Given the description of an element on the screen output the (x, y) to click on. 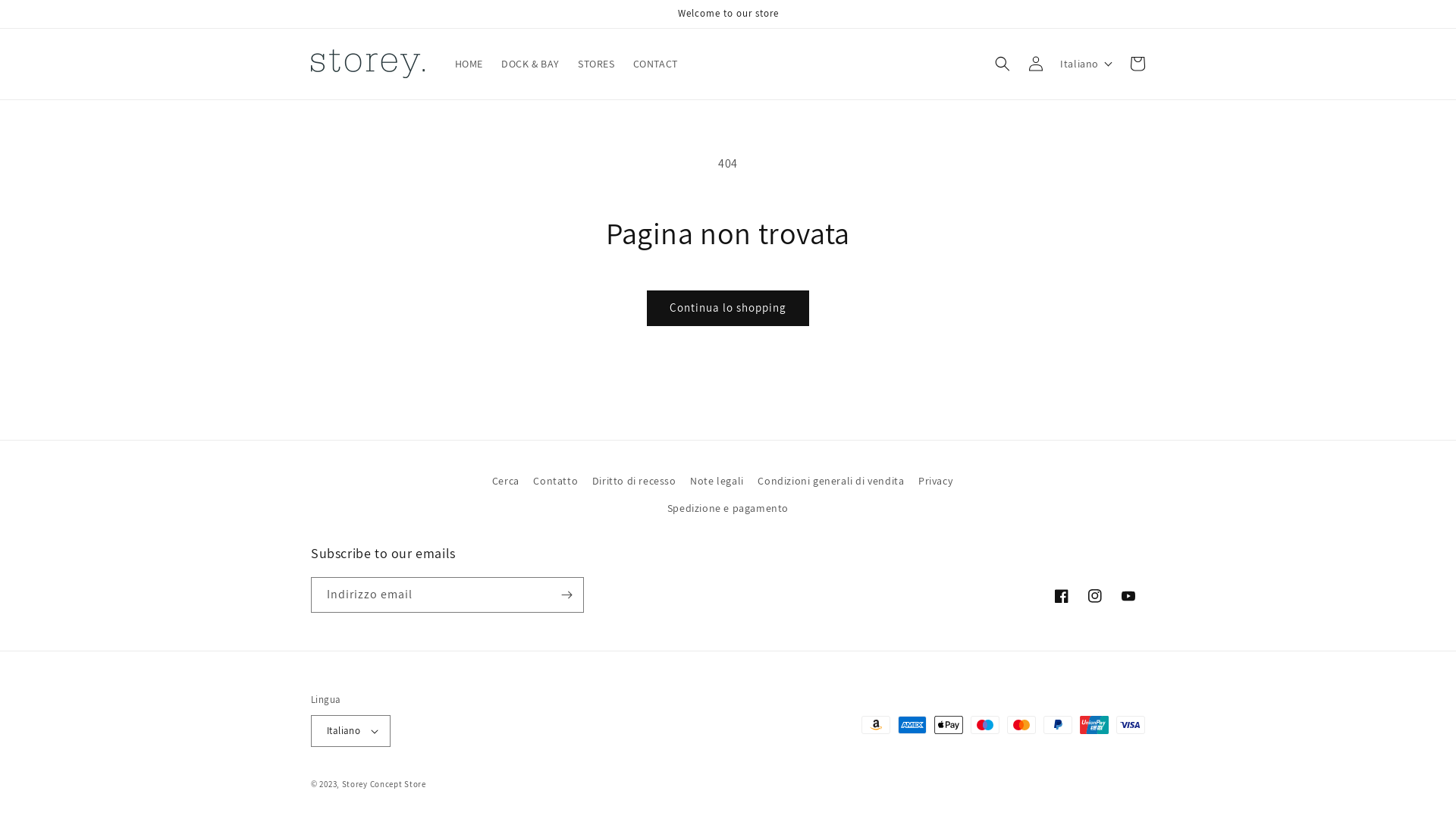
Diritto di recesso Element type: text (634, 480)
Note legali Element type: text (716, 480)
Cerca Element type: text (505, 482)
Condizioni generali di vendita Element type: text (830, 480)
Italiano Element type: text (350, 730)
STORES Element type: text (596, 63)
CONTACT Element type: text (655, 63)
Accedi Element type: text (1035, 63)
Facebook Element type: text (1061, 595)
Privacy Element type: text (935, 480)
Spedizione e pagamento Element type: text (727, 508)
Carrello Element type: text (1137, 63)
HOME Element type: text (468, 63)
Continua lo shopping Element type: text (727, 308)
YouTube Element type: text (1128, 595)
Contatto Element type: text (555, 480)
DOCK & BAY Element type: text (530, 63)
Storey Concept Store Element type: text (384, 783)
Instagram Element type: text (1094, 595)
